Given the description of an element on the screen output the (x, y) to click on. 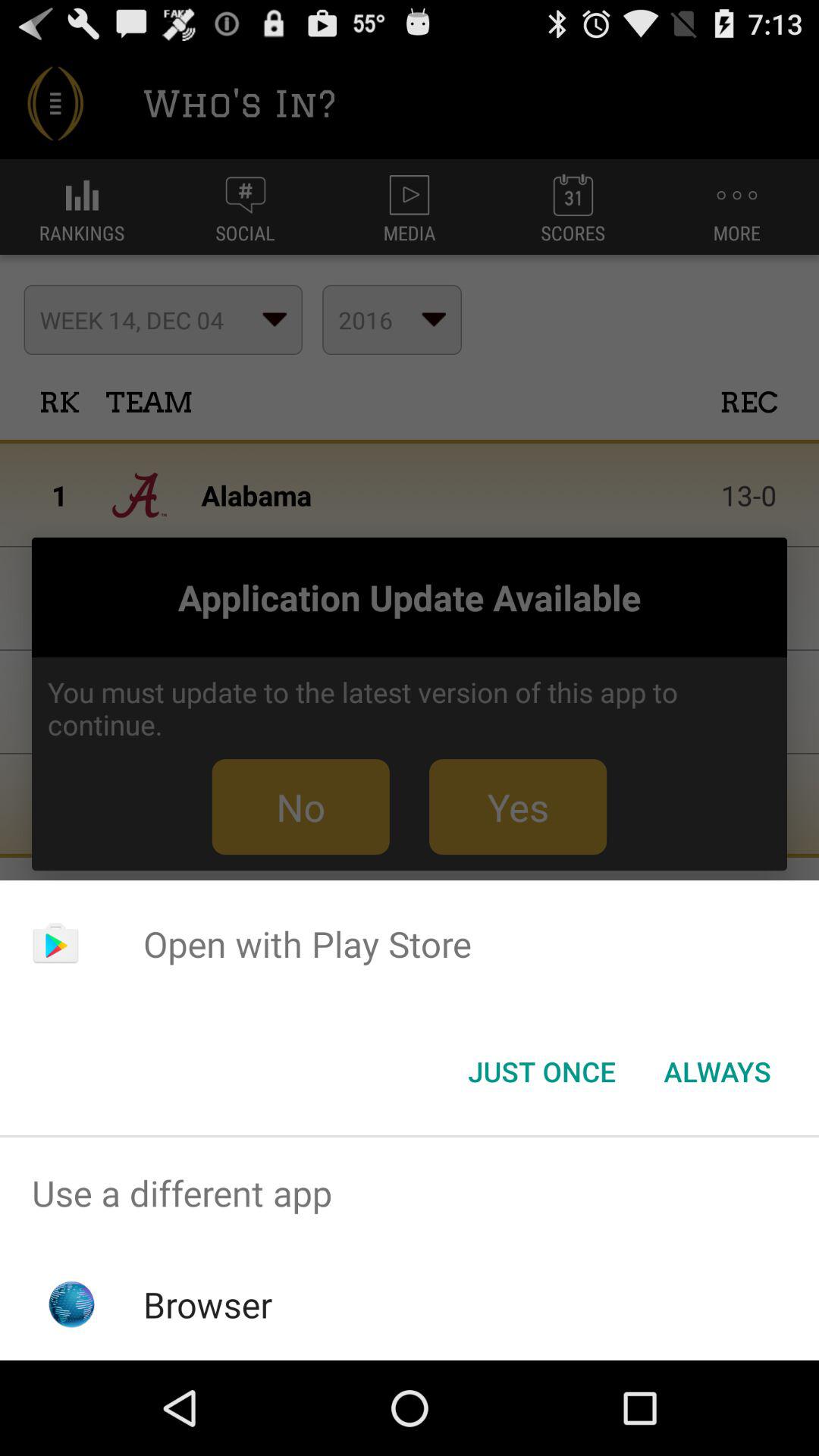
open just once item (541, 1071)
